Given the description of an element on the screen output the (x, y) to click on. 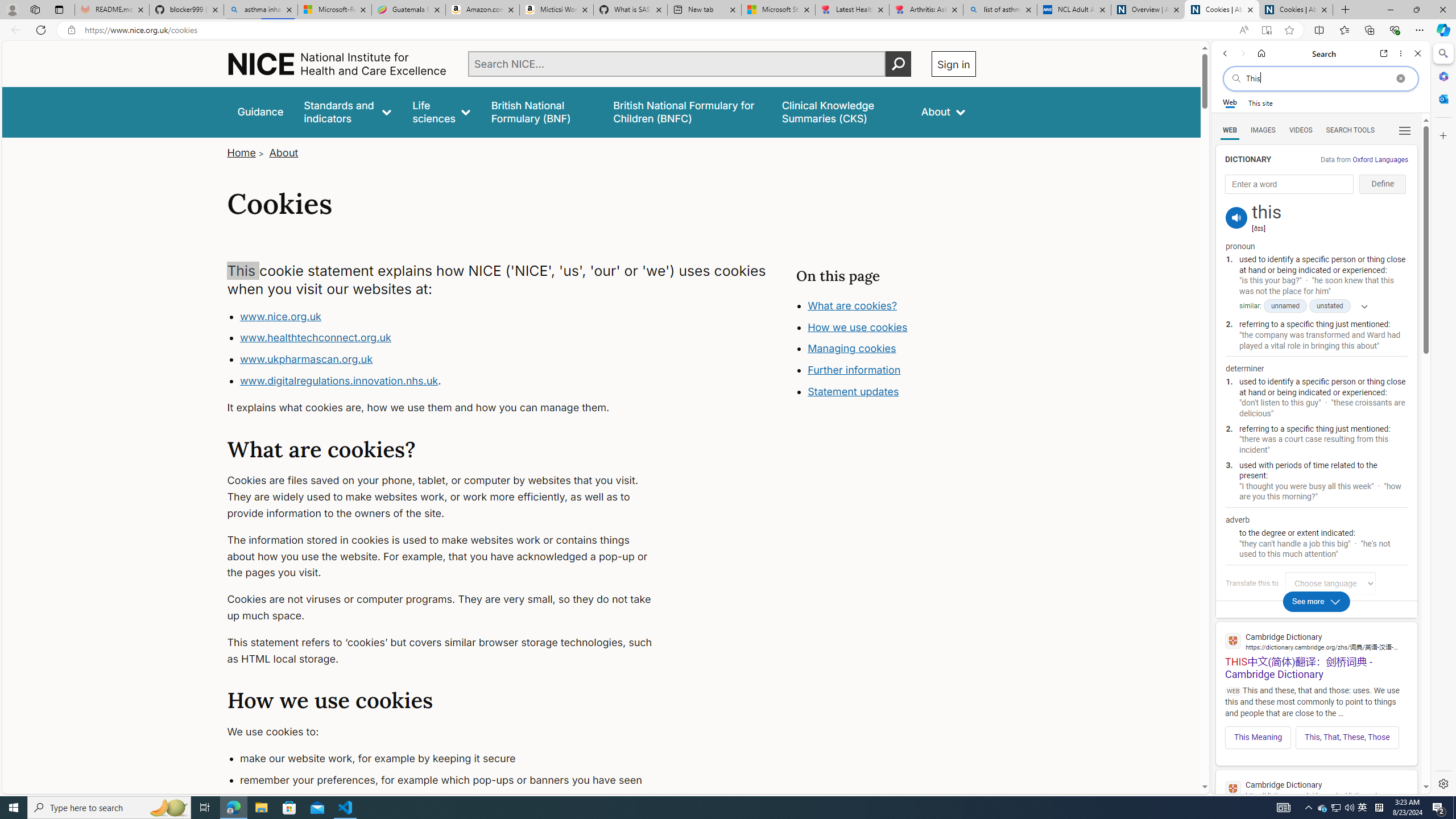
Cambridge Dictionary (1315, 788)
What are cookies? (852, 305)
make our website work, for example by keeping it secure (452, 759)
unnamed (1285, 305)
Guidance (260, 111)
